Given the description of an element on the screen output the (x, y) to click on. 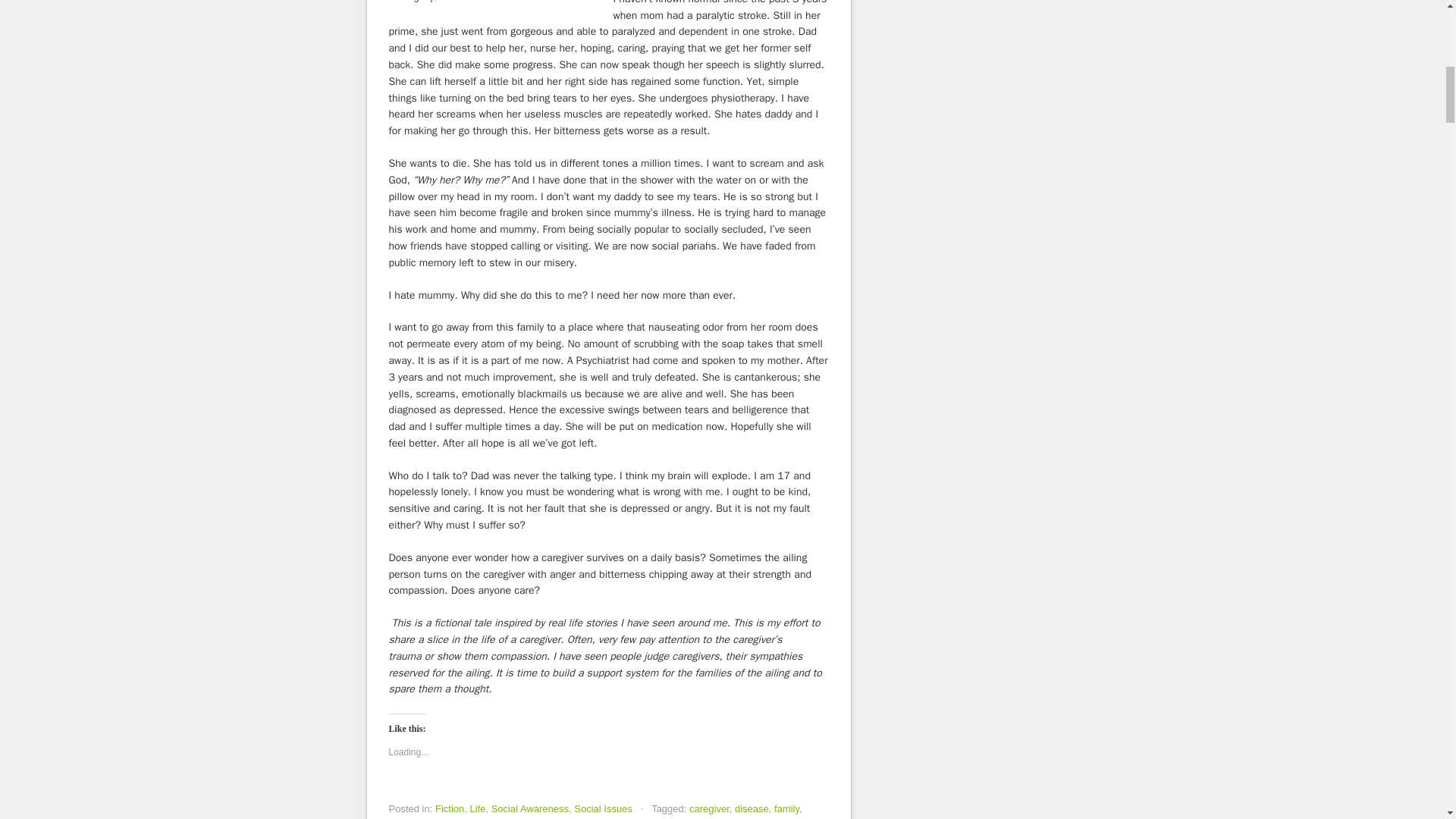
caregiver (708, 808)
Social Awareness (530, 808)
family (786, 808)
Fiction (449, 808)
Social Issues (602, 808)
Life (476, 808)
disease (751, 808)
